Given the description of an element on the screen output the (x, y) to click on. 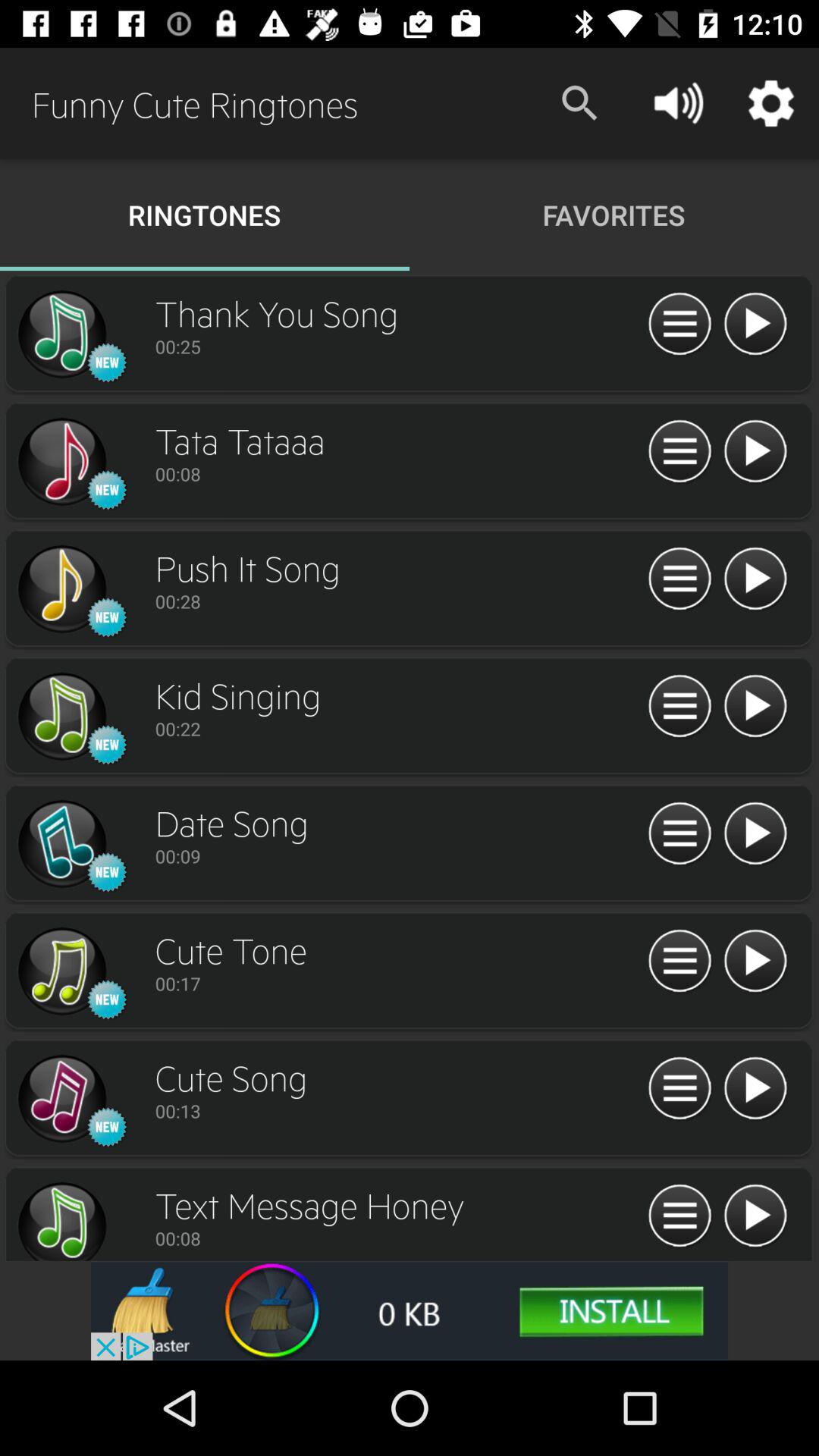
display song information (679, 451)
